Given the description of an element on the screen output the (x, y) to click on. 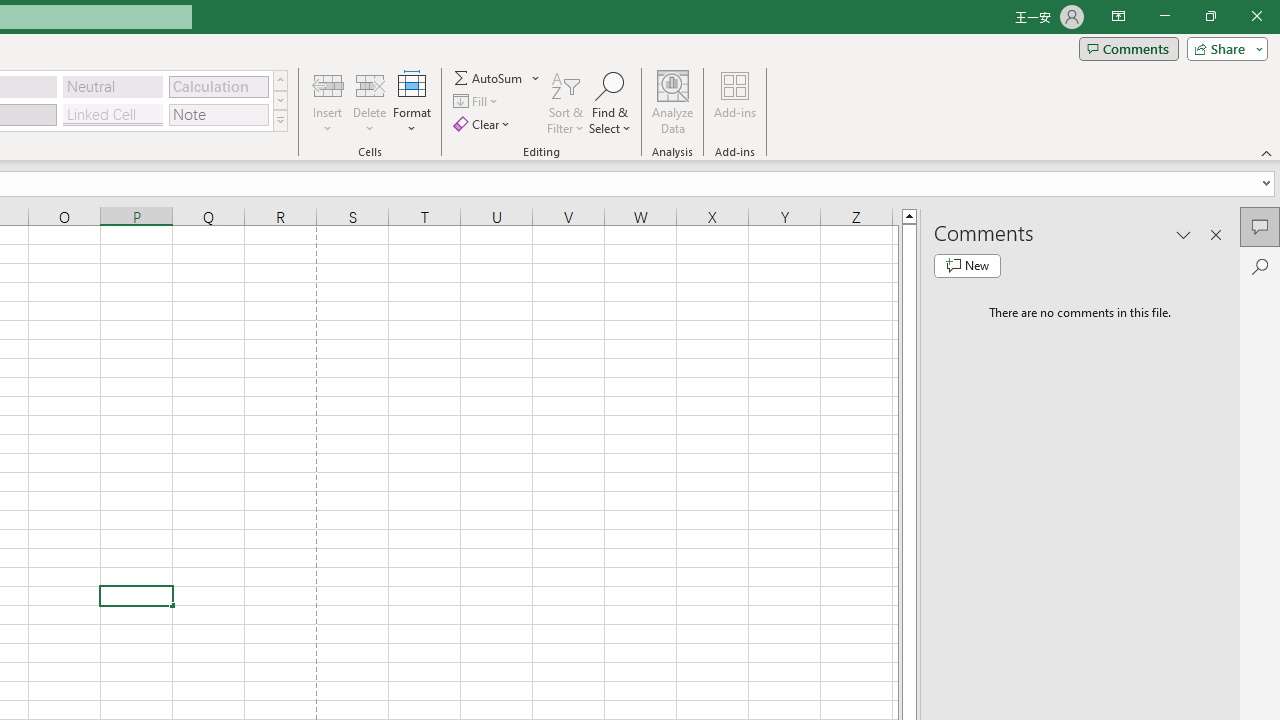
Row up (280, 79)
Task Pane Options (1183, 234)
Linked Cell (113, 114)
Close pane (1215, 234)
Delete Cells... (369, 84)
Minimize (1164, 16)
Class: NetUIImage (280, 120)
Format (411, 102)
Share (1223, 48)
Delete (369, 102)
Cell Styles (280, 120)
Ribbon Display Options (1118, 16)
Insert Cells (328, 84)
